Given the description of an element on the screen output the (x, y) to click on. 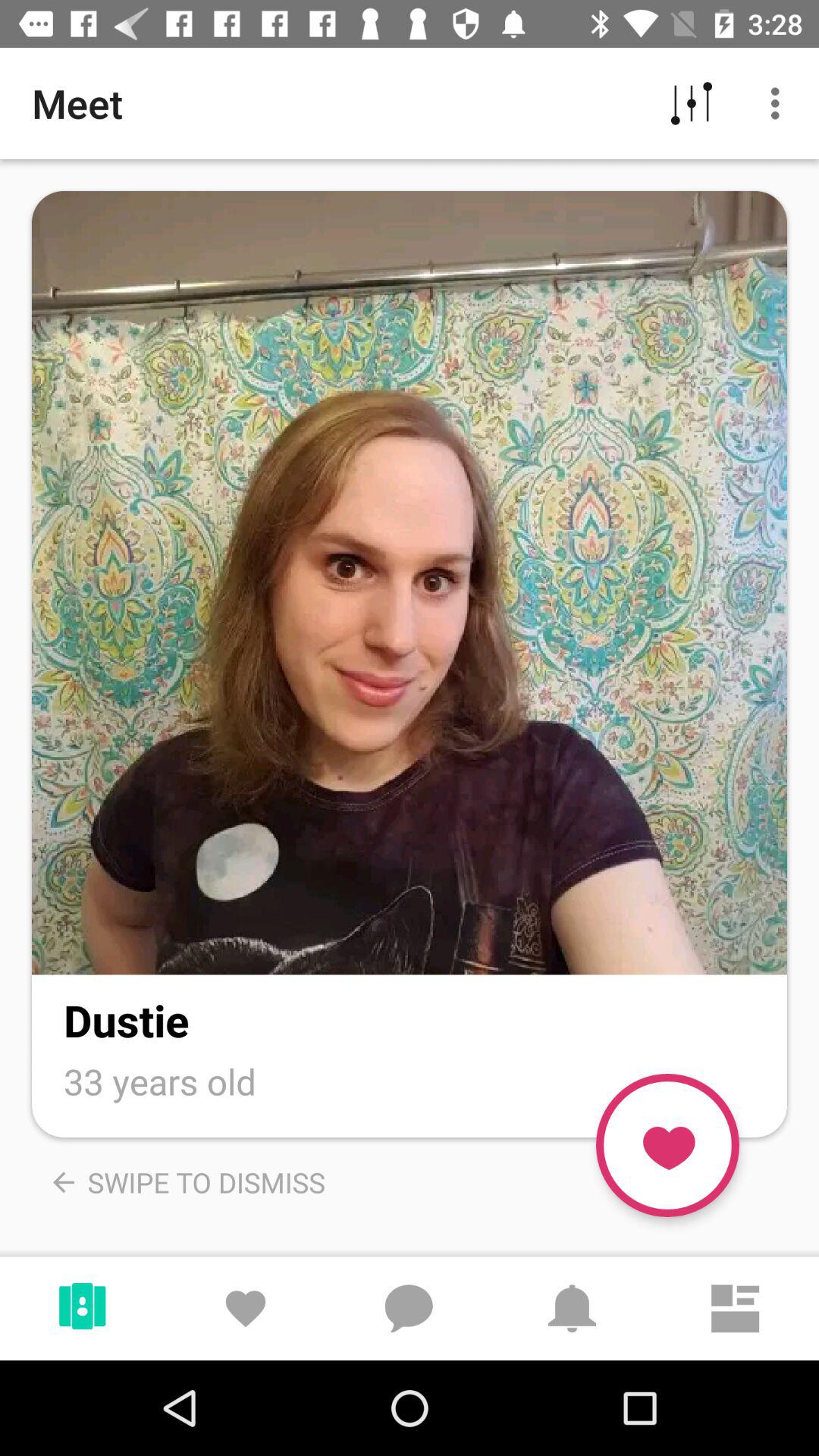
like the photo (667, 1145)
